Given the description of an element on the screen output the (x, y) to click on. 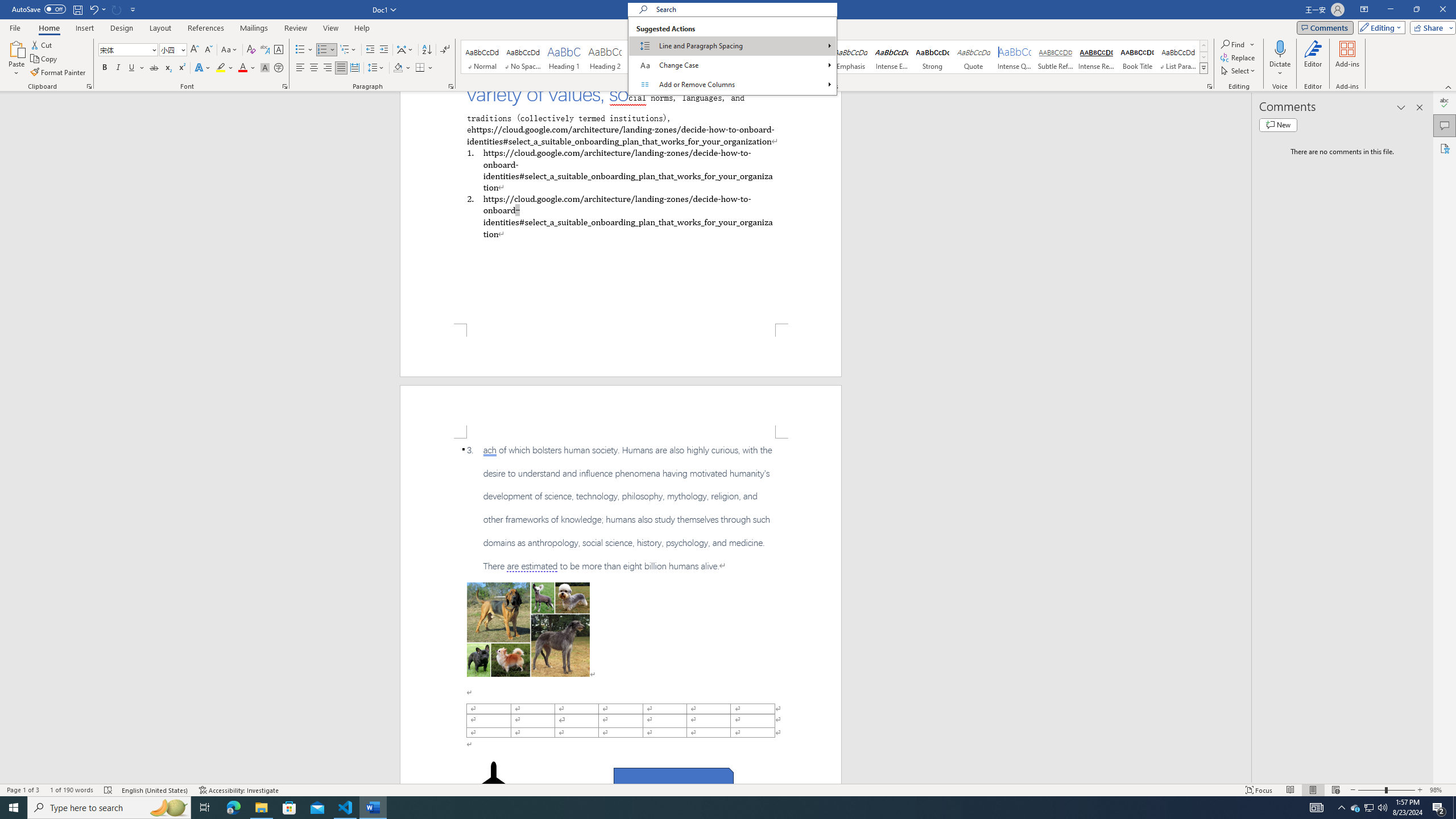
Numbering (326, 49)
Underline (131, 67)
Accessibility Checker Accessibility: Investigate (239, 790)
Zoom In (1420, 790)
Print Layout (1312, 790)
Grow Font (193, 49)
Undo Apply Quick Style (92, 9)
Increase Indent (383, 49)
Dictate (1280, 58)
File Tab (15, 27)
Distributed (354, 67)
Footer -Section 1- (620, 349)
Shrink Font (208, 49)
Subscript (167, 67)
